Given the description of an element on the screen output the (x, y) to click on. 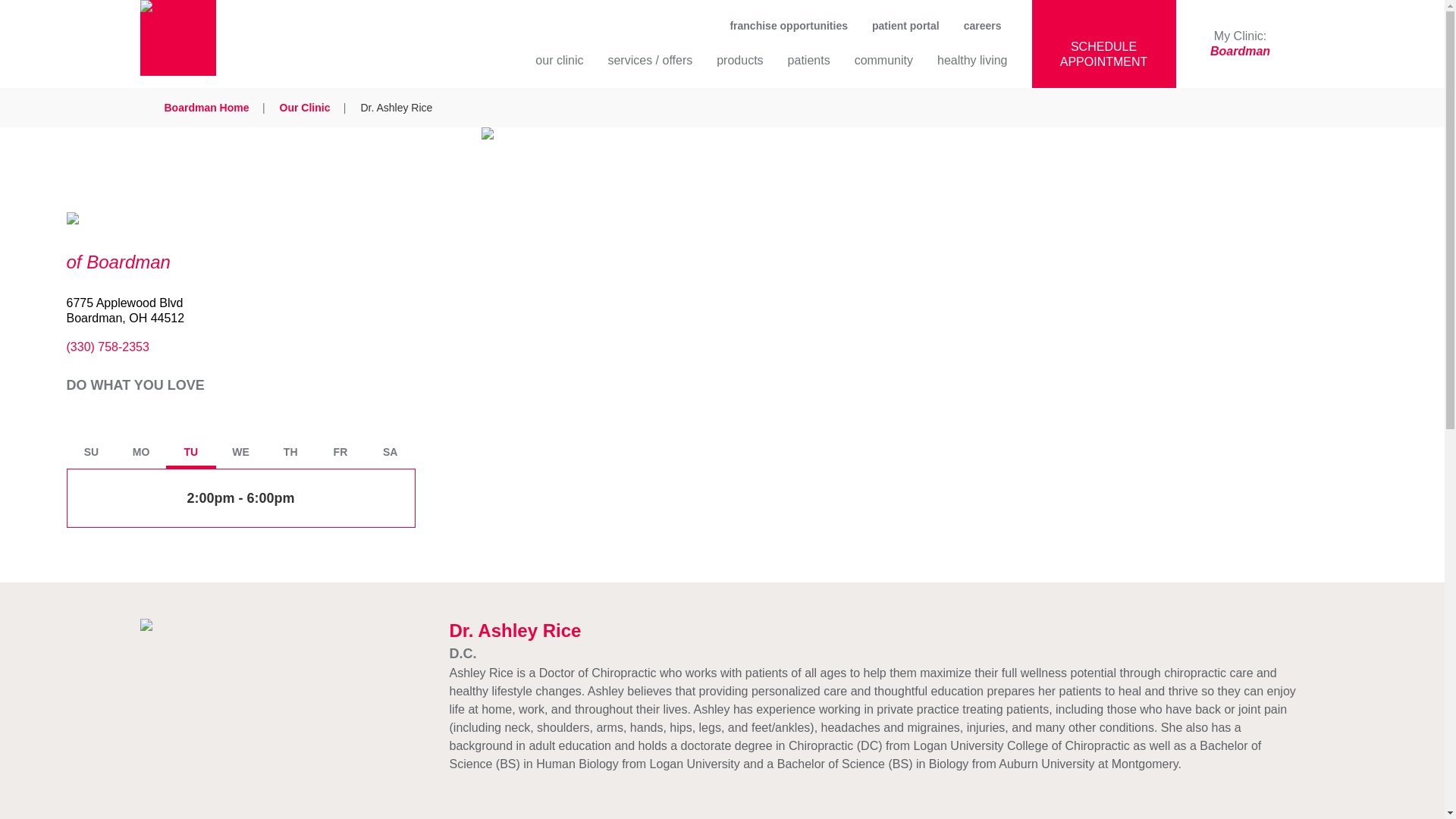
careers (982, 25)
patient portal (906, 25)
Boardman Home (1239, 43)
community (205, 107)
healthy living (883, 66)
SCHEDULE APPOINTMENT (972, 66)
franchise opportunities (1102, 43)
patients (788, 25)
products (809, 66)
